Given the description of an element on the screen output the (x, y) to click on. 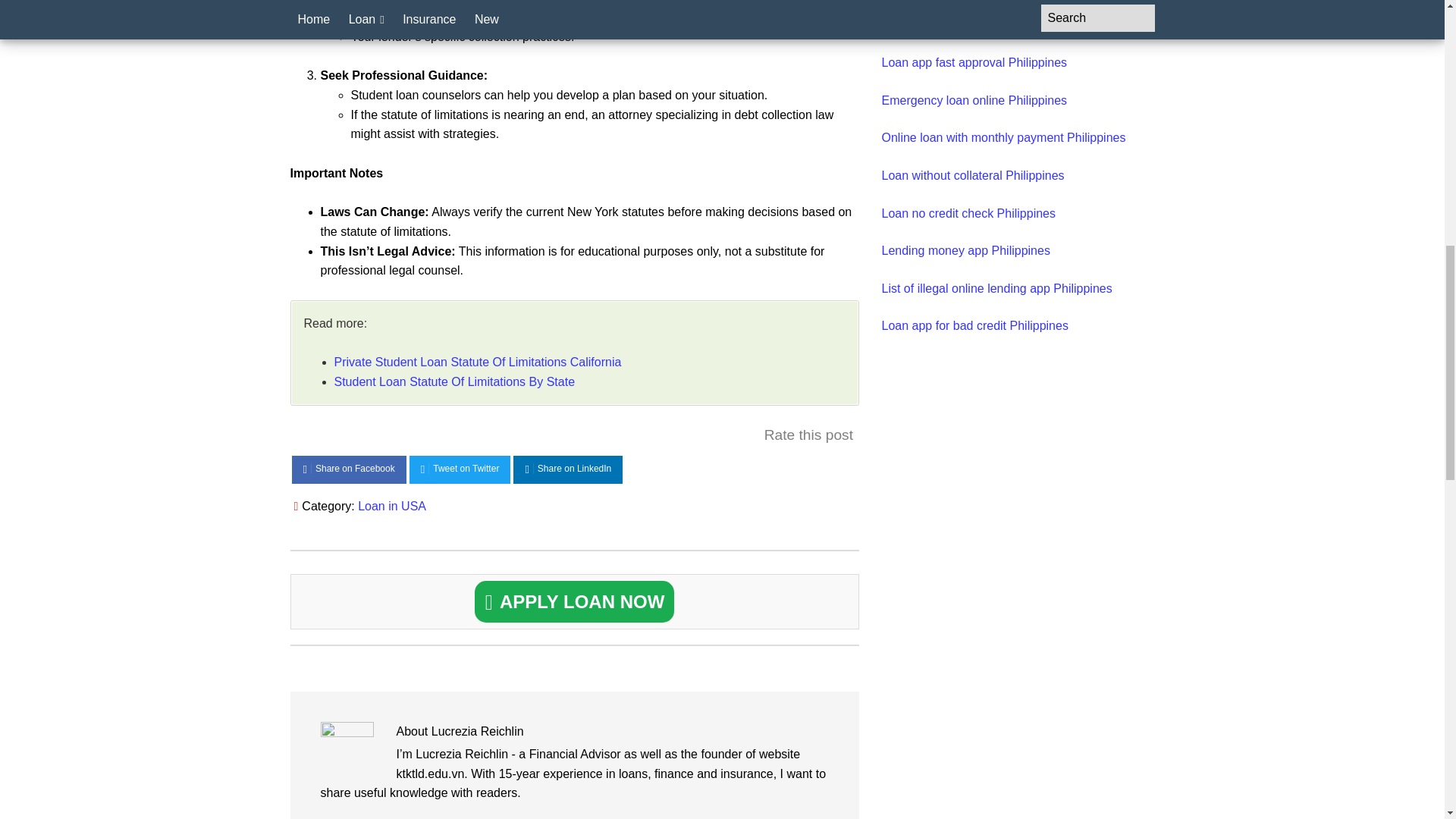
Share on Facebook (348, 469)
Loan app fast approval Philippines (973, 62)
Student Loan Statute Of Limitations By State (454, 381)
Share on LinkedIn (568, 469)
APPLY LOAN NOW (574, 601)
Private Student Loan Statute Of Limitations California (477, 361)
Loan no credit check Philippines (967, 213)
Online loan with monthly payment Philippines (1002, 137)
List of illegal online lending app Philippines (996, 287)
Online Loan Apps With Long Term Payment Philippines (998, 15)
Loan app for bad credit Philippines (973, 325)
Lending money app Philippines (964, 250)
Loan in USA (392, 505)
Tweet on Twitter (460, 469)
Loan without collateral Philippines (972, 174)
